Given the description of an element on the screen output the (x, y) to click on. 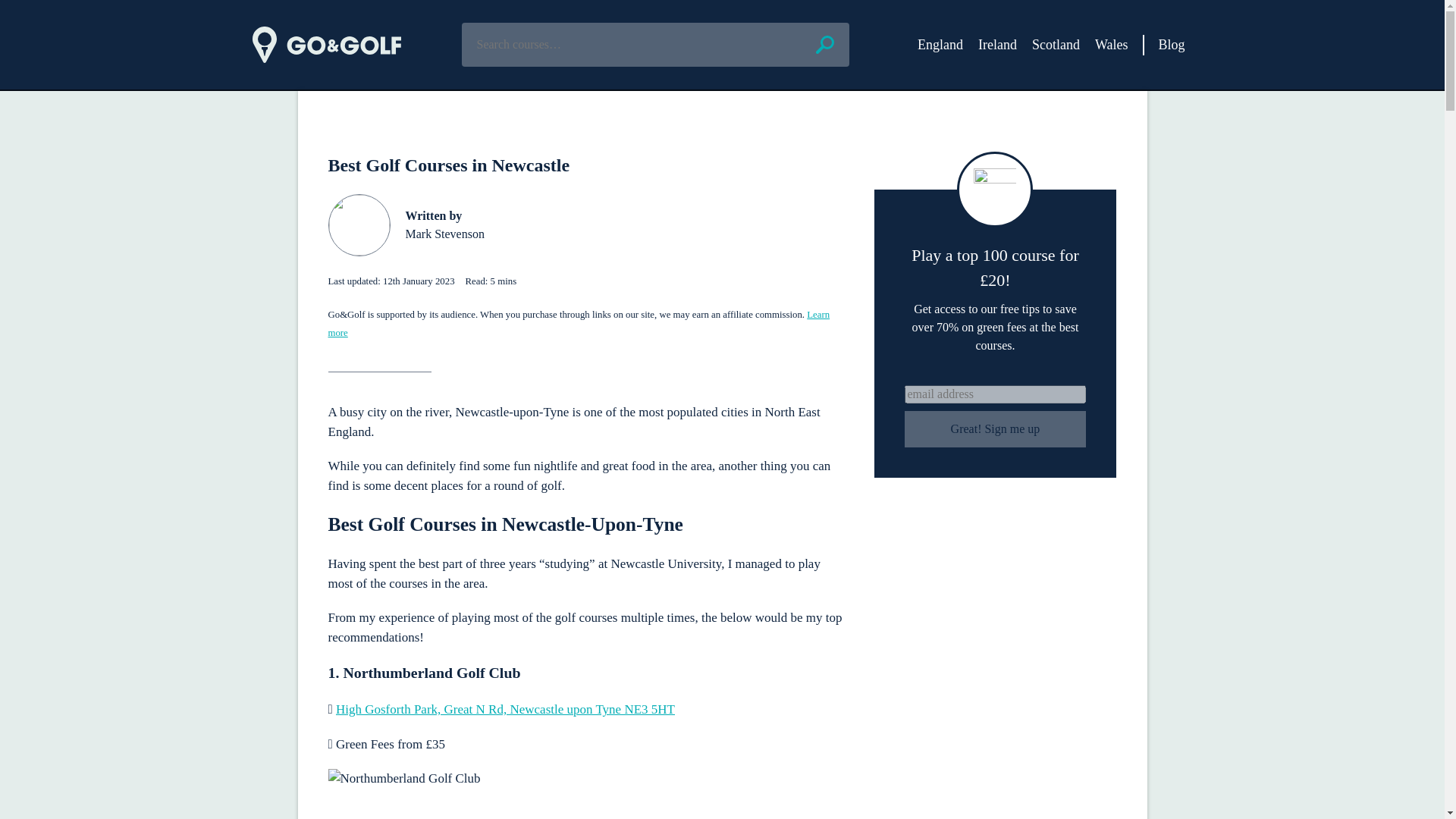
England (939, 44)
Ireland (997, 44)
Search for: (654, 44)
Blog (1171, 44)
High Gosforth Park, Great N Rd, Newcastle upon Tyne NE3 5HT (505, 708)
Great! Sign me up (995, 429)
Learn more (578, 323)
Wales (1111, 44)
Scotland (1056, 44)
